Given the description of an element on the screen output the (x, y) to click on. 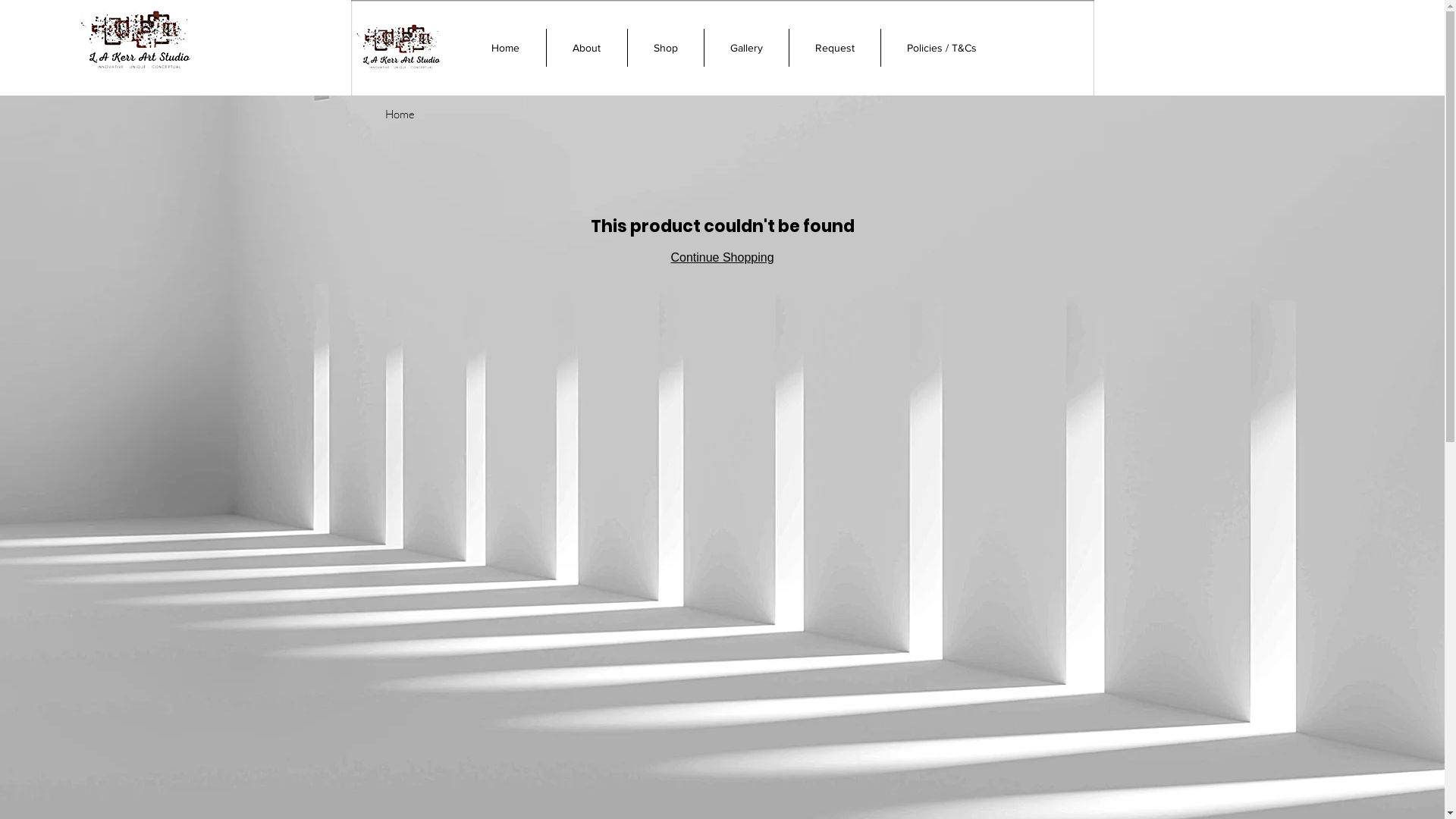
Continue Shopping Element type: text (721, 257)
About Element type: text (586, 47)
Home Element type: text (399, 113)
Home Element type: text (505, 47)
